Given the description of an element on the screen output the (x, y) to click on. 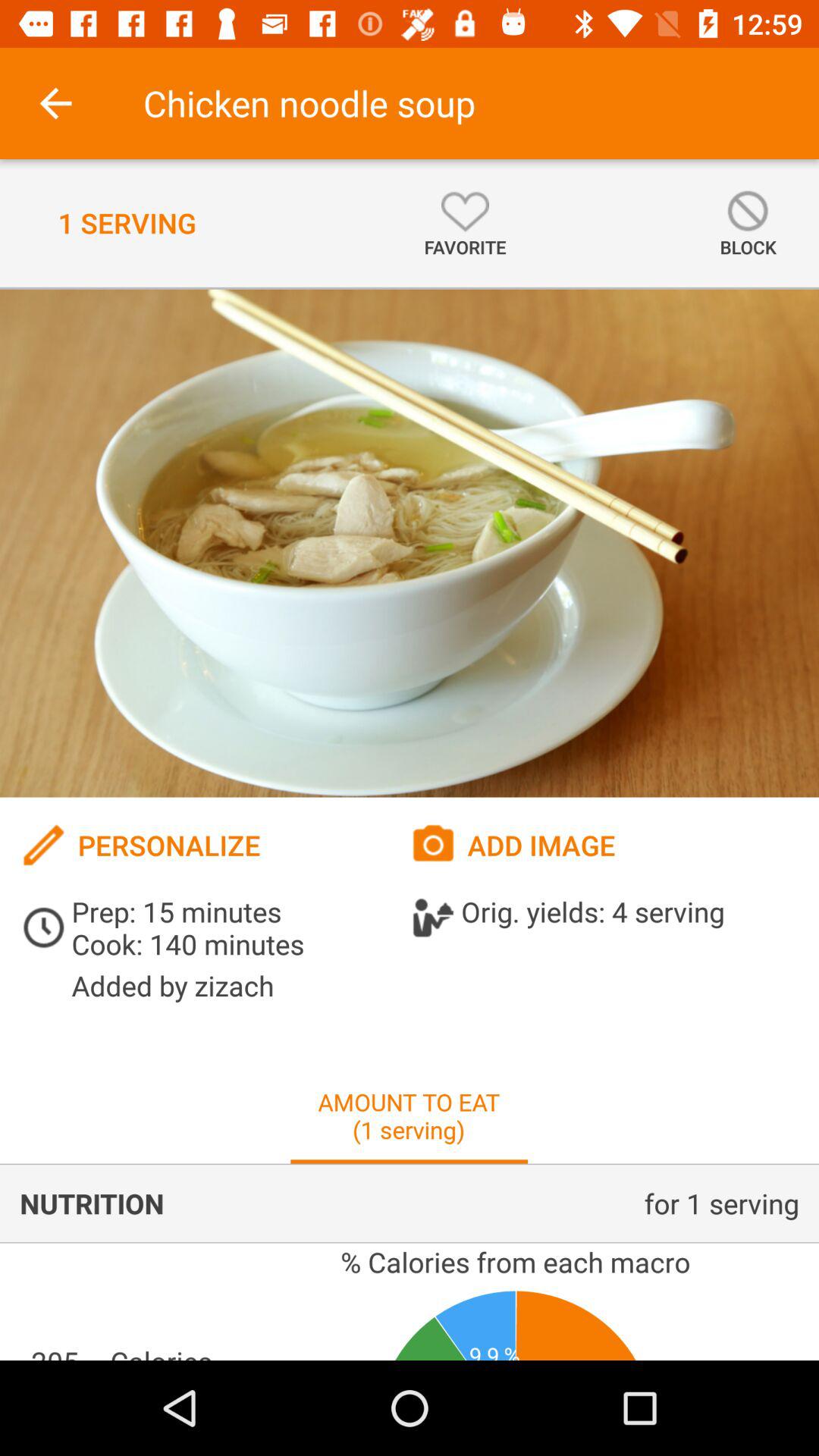
scroll until chicken noodle soup item (309, 103)
